Given the description of an element on the screen output the (x, y) to click on. 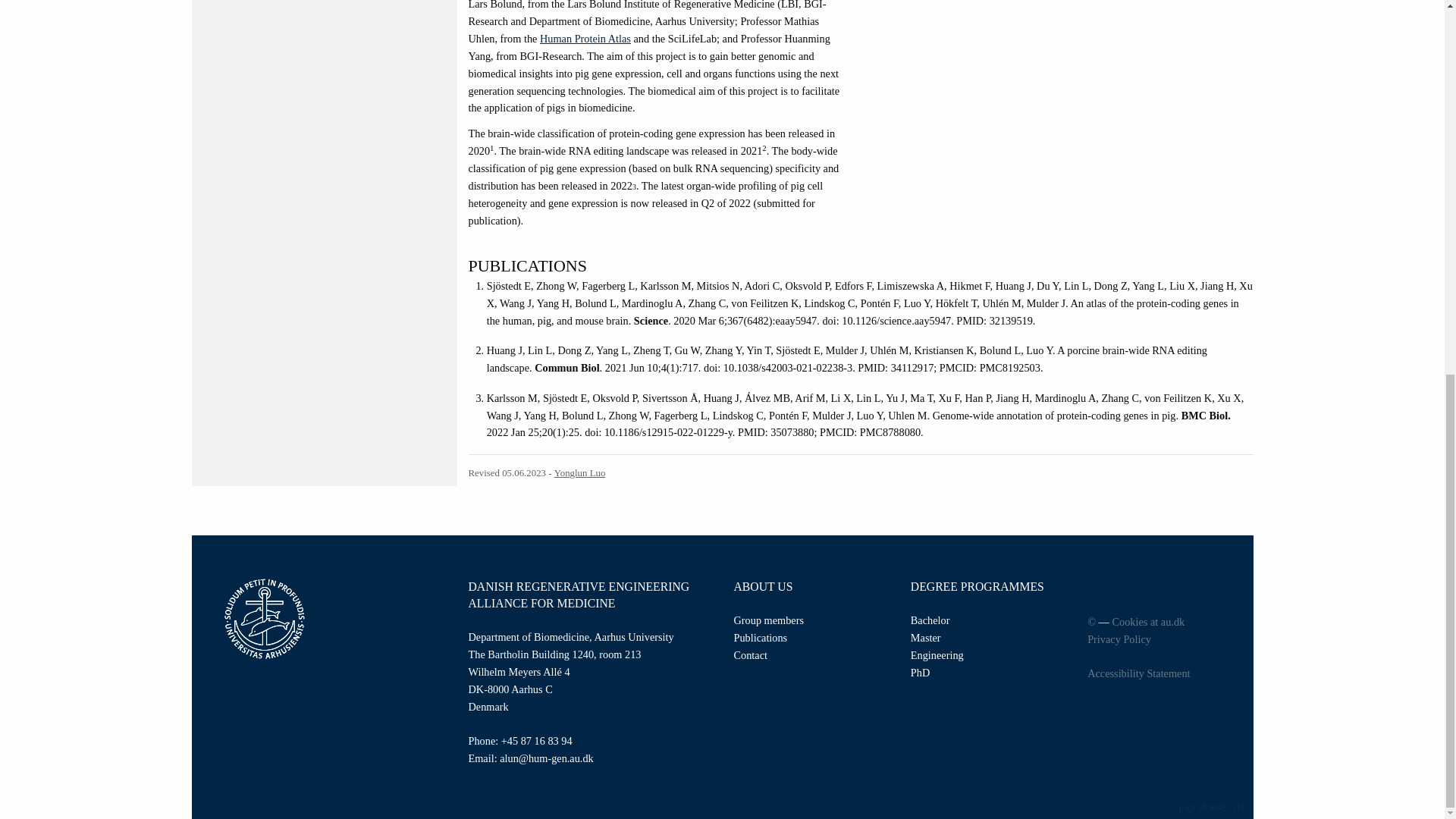
Cookies at au.dk (1148, 621)
Bachelor (930, 620)
Engineering (937, 654)
Publications (760, 637)
PhD (920, 672)
Accessibility Statement (1164, 673)
Privacy Policy (1164, 639)
Master (925, 637)
Group members (769, 620)
Contact (750, 654)
